Given the description of an element on the screen output the (x, y) to click on. 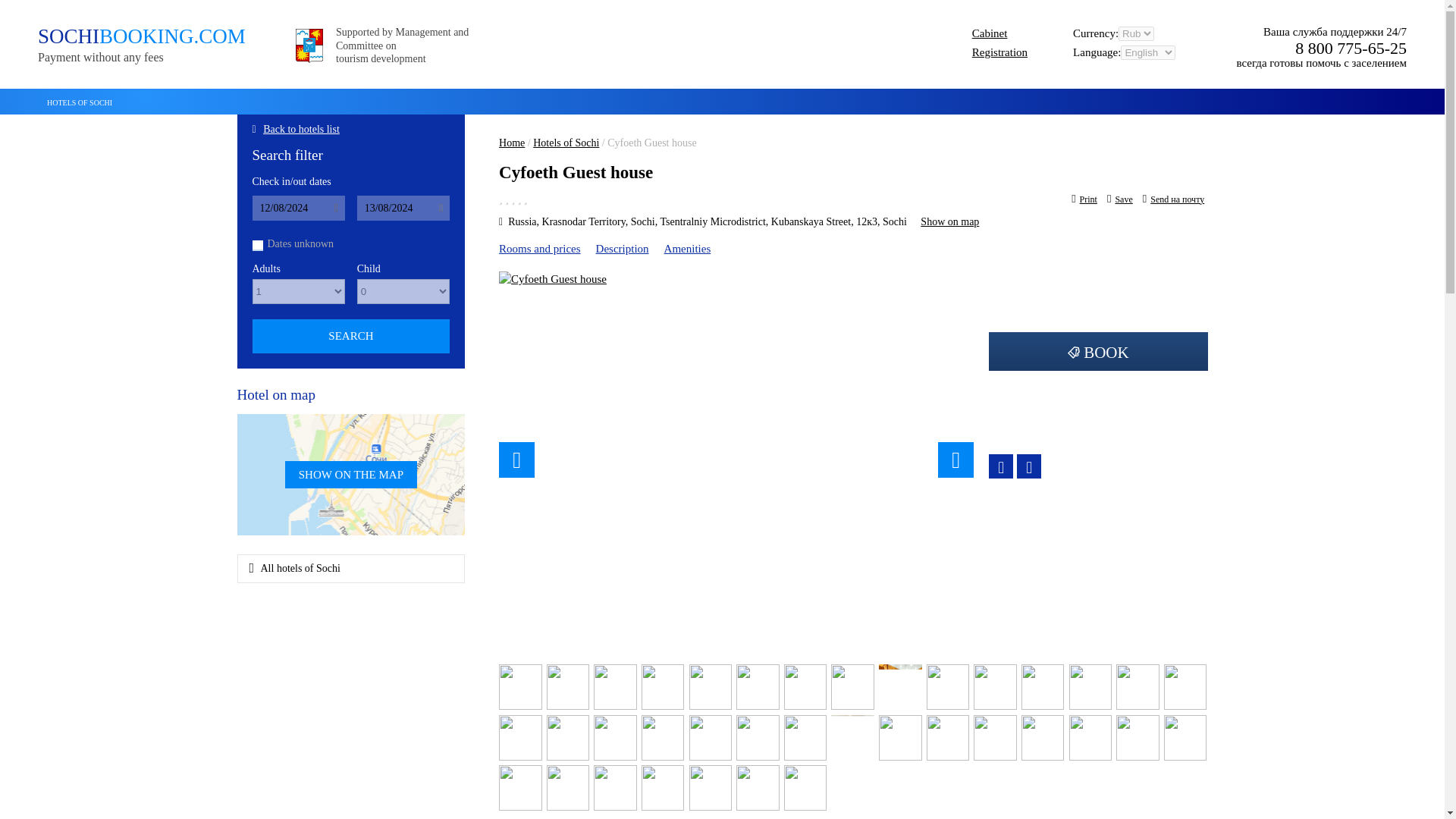
SHOW ON THE MAP (349, 474)
All hotels of Sochi (351, 568)
Cabinet (143, 44)
Amenities (989, 33)
Home (687, 248)
Registration (511, 142)
Rooms and prices (999, 51)
Search (539, 248)
HOTELS OF SOCHI (350, 335)
